Given the description of an element on the screen output the (x, y) to click on. 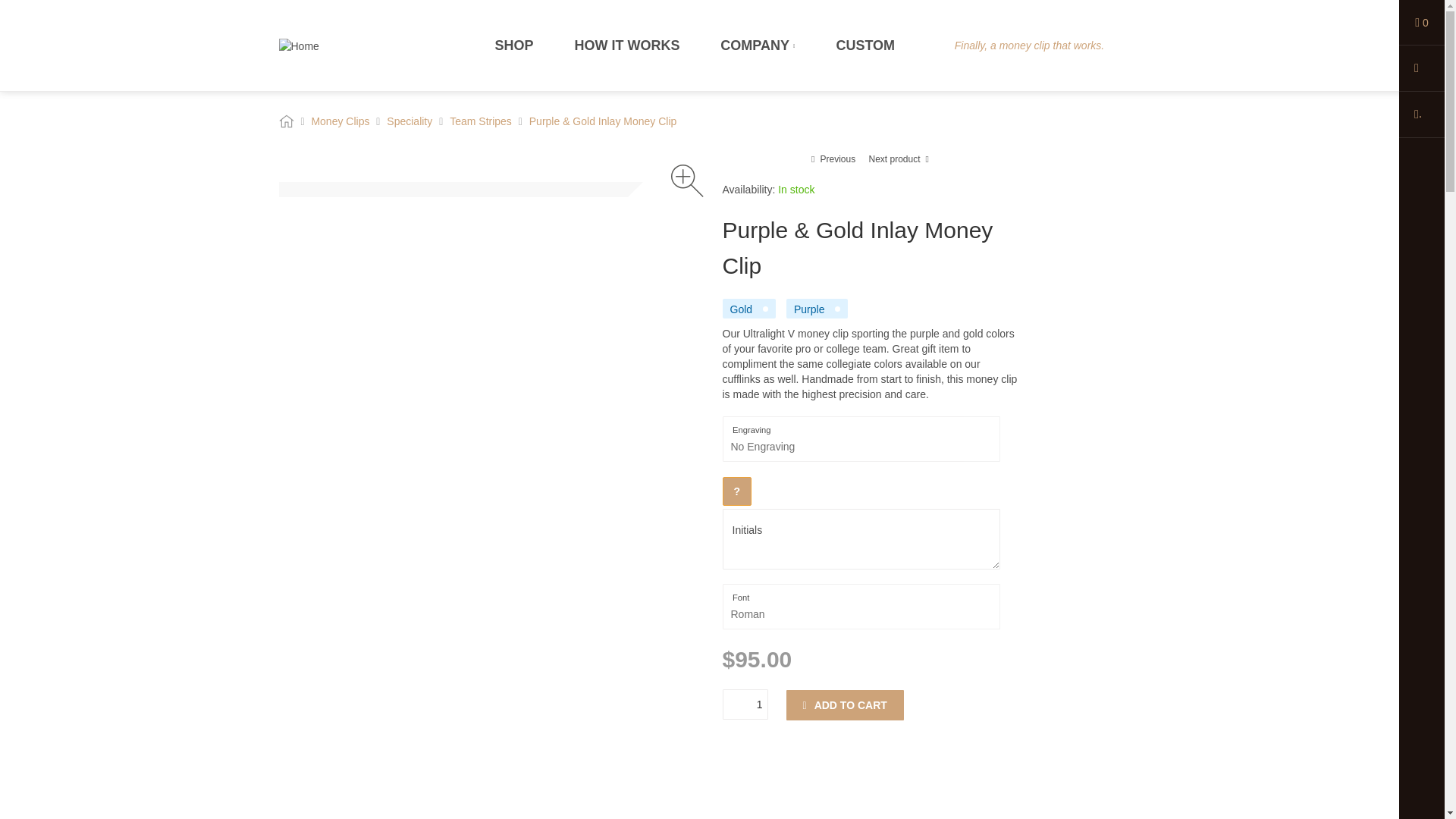
Quantity (744, 704)
Home (298, 44)
1 (744, 704)
